Given the description of an element on the screen output the (x, y) to click on. 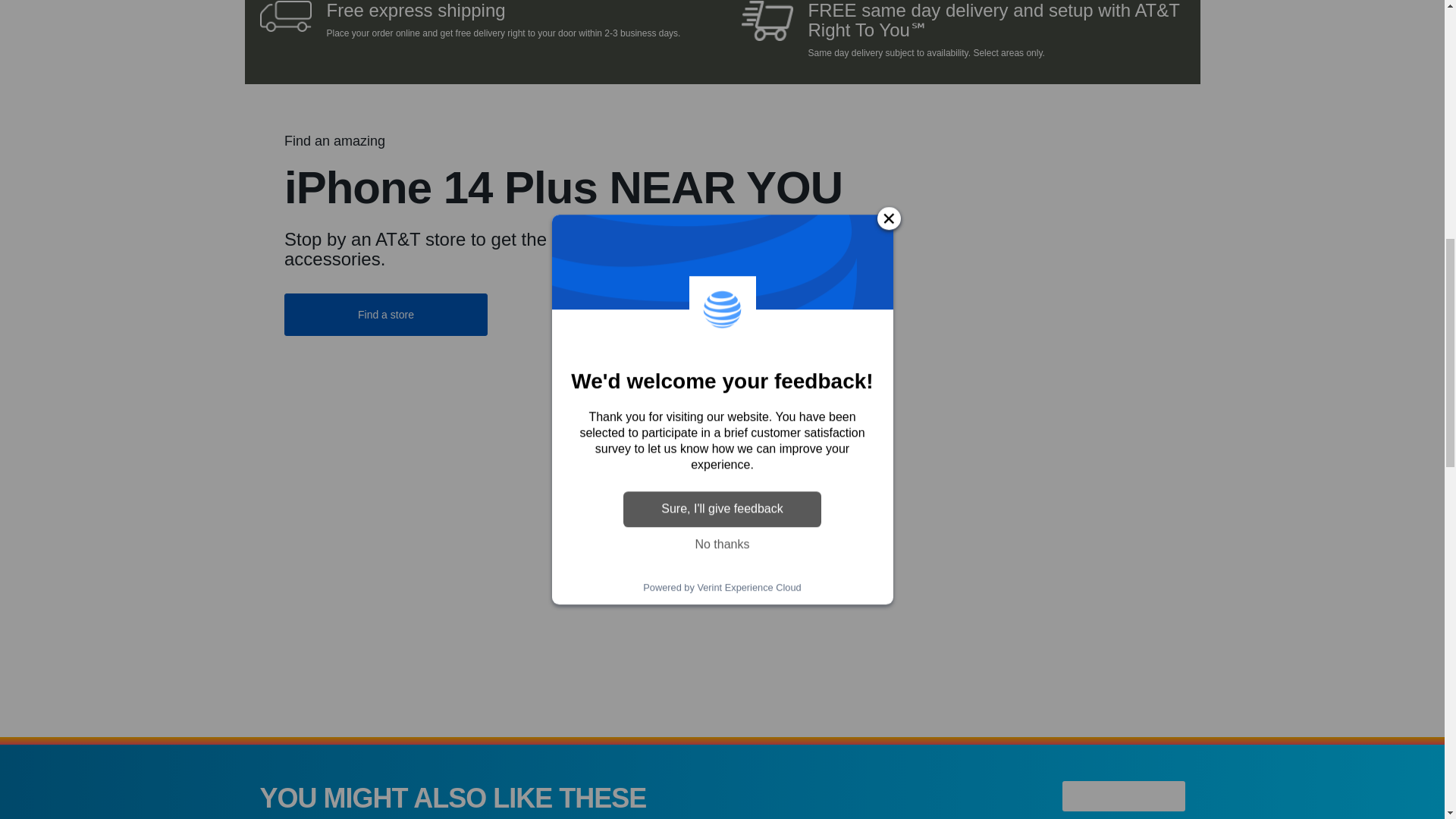
locations in the city of Atlanta (1027, 318)
